Given the description of an element on the screen output the (x, y) to click on. 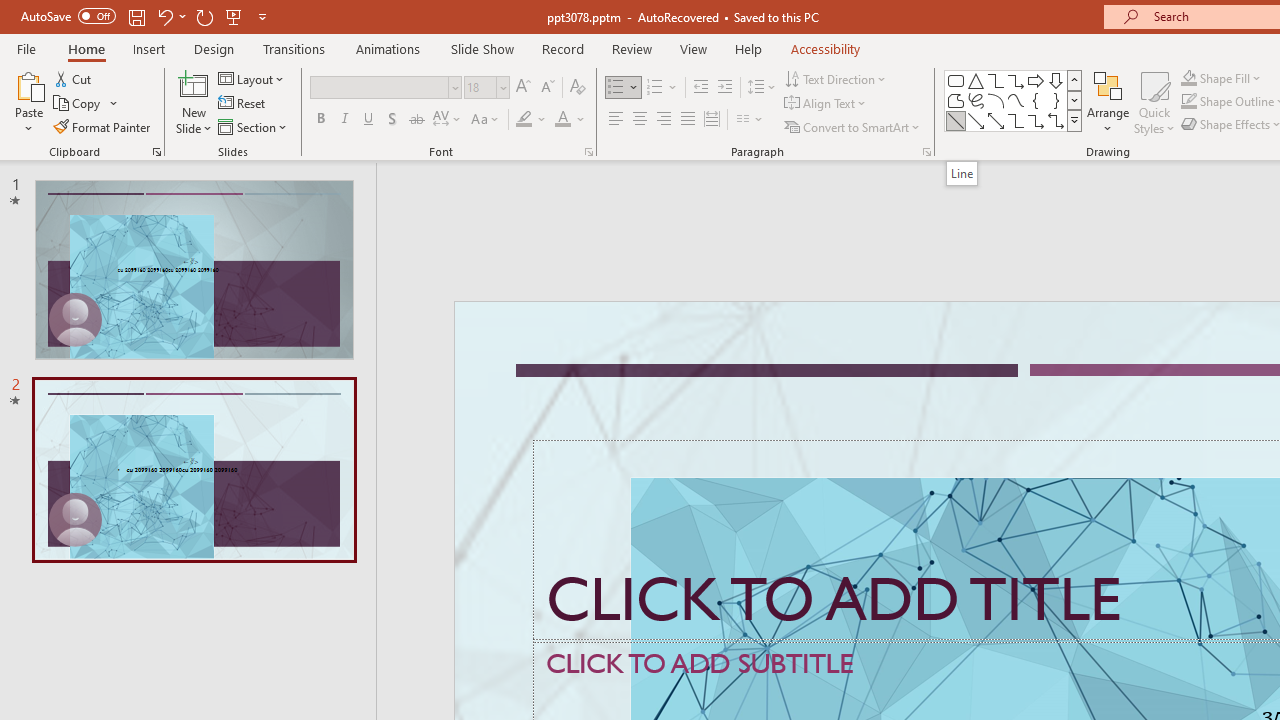
Gmail (637, 138)
Explorer (Ctrl+Shift+E) (135, 388)
Run and Debug (Ctrl+Shift+D) (135, 622)
Go Back (Alt+LeftArrow) (1055, 265)
Search (Ctrl+Shift+F) (135, 466)
Tab actions (1188, 322)
Application Menu (135, 322)
